Given the description of an element on the screen output the (x, y) to click on. 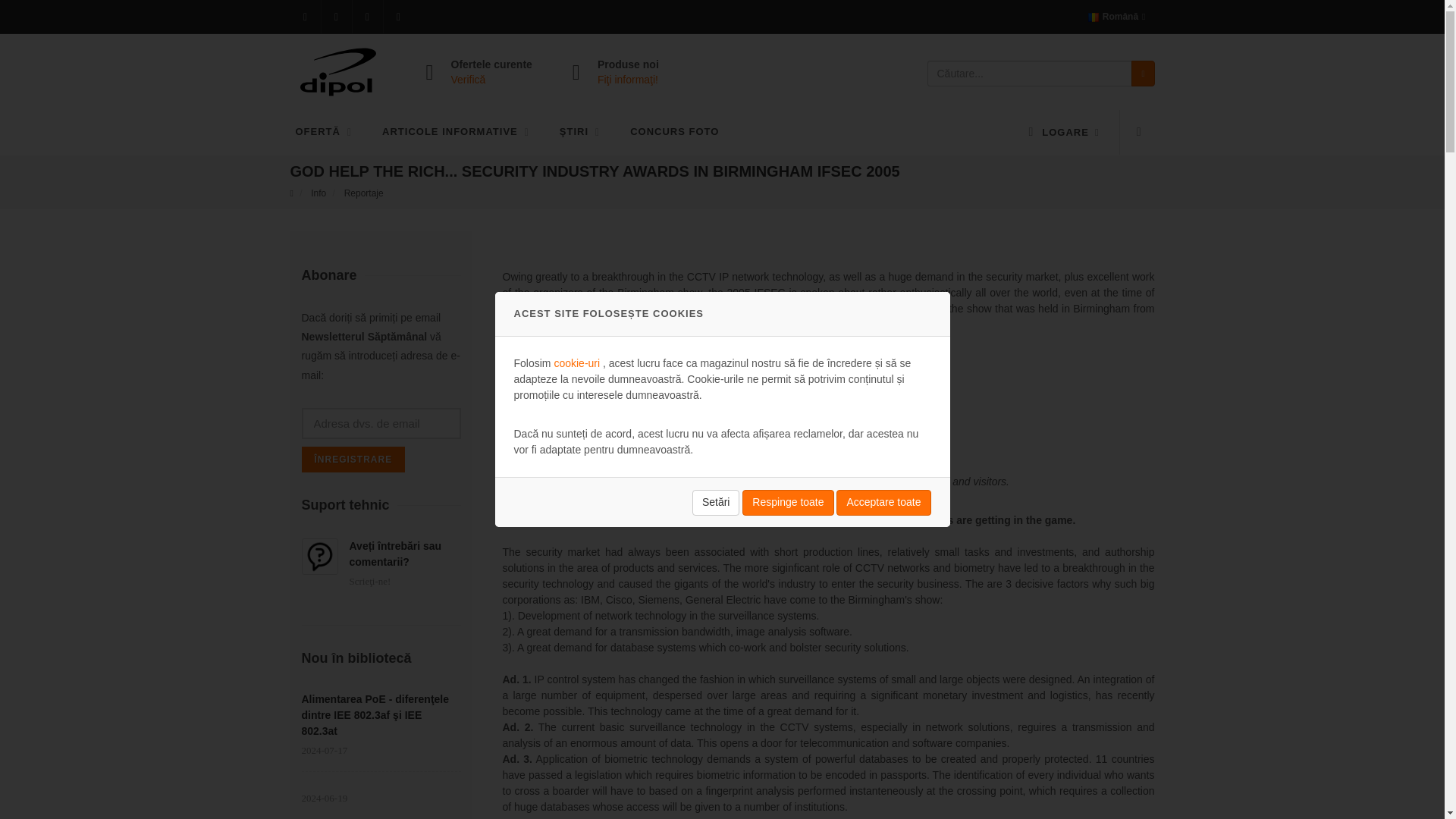
Respinge toate (787, 502)
cookie-uri (577, 363)
Acceptare toate (882, 502)
